Given the description of an element on the screen output the (x, y) to click on. 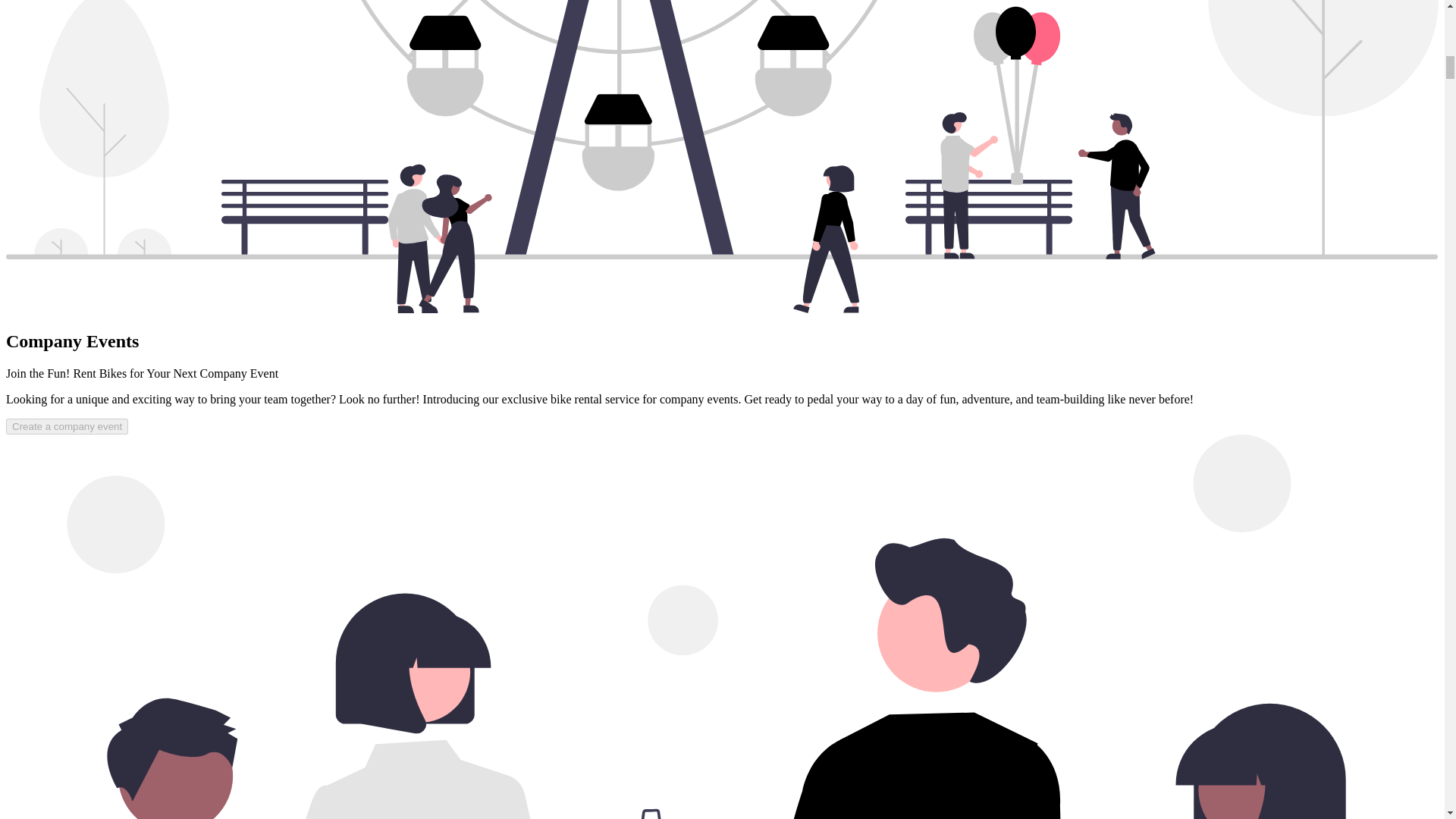
Create a company event (66, 426)
